Given the description of an element on the screen output the (x, y) to click on. 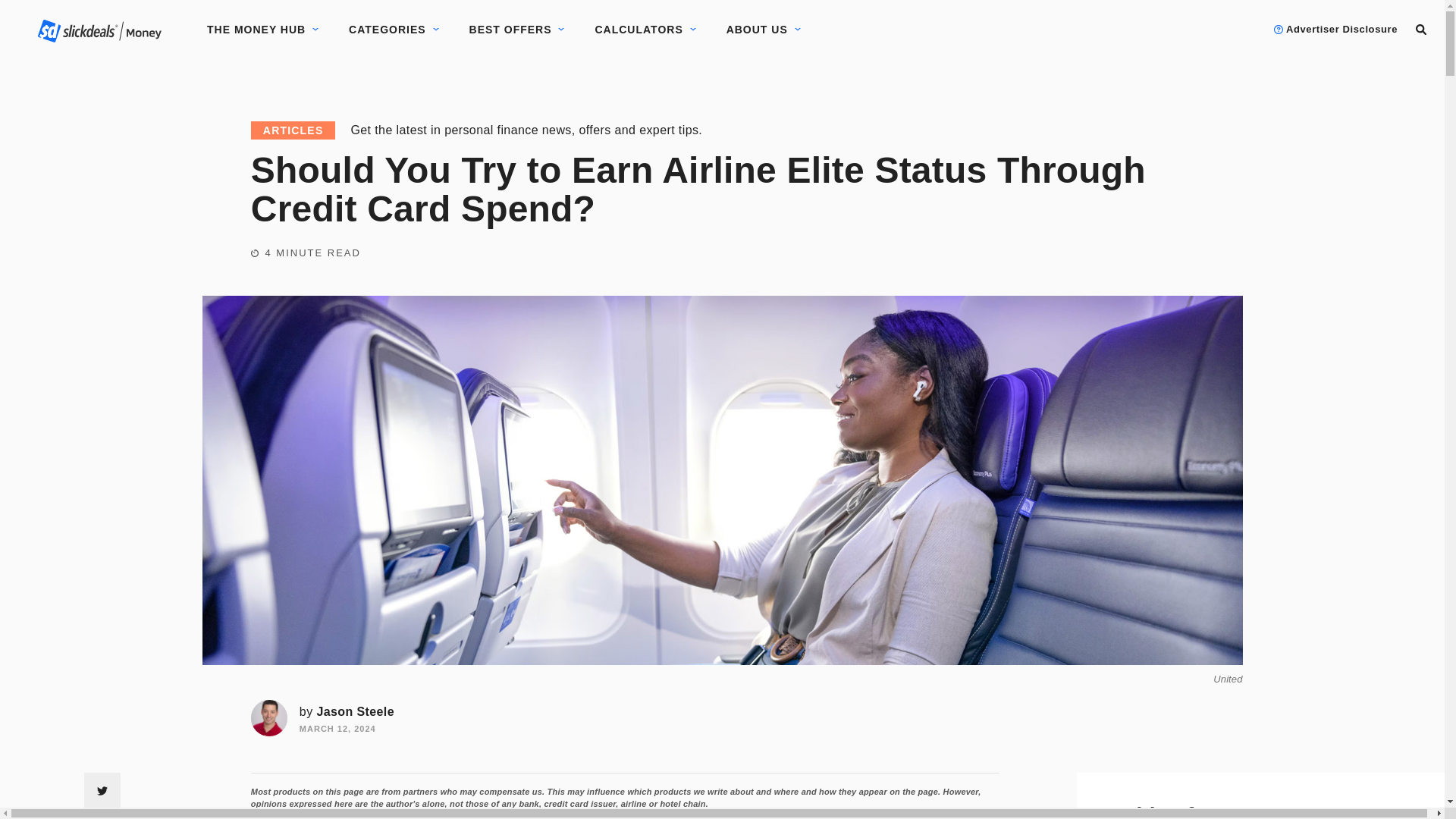
THE MONEY HUB (255, 29)
ABOUT US (756, 29)
BEST OFFERS (509, 29)
CALCULATORS (638, 29)
CATEGORIES (387, 29)
